Given the description of an element on the screen output the (x, y) to click on. 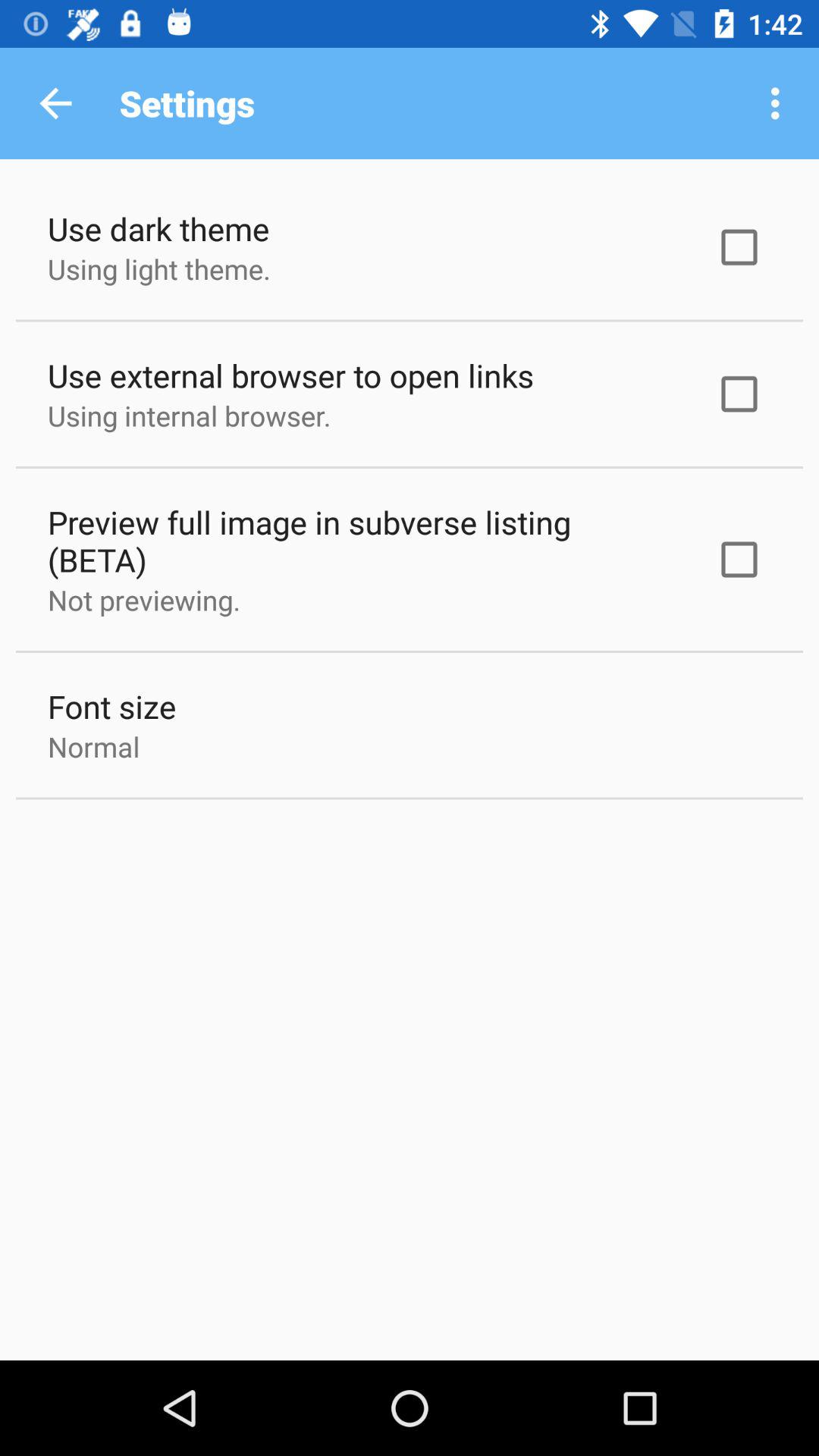
turn on the item below the preview full image (143, 599)
